Given the description of an element on the screen output the (x, y) to click on. 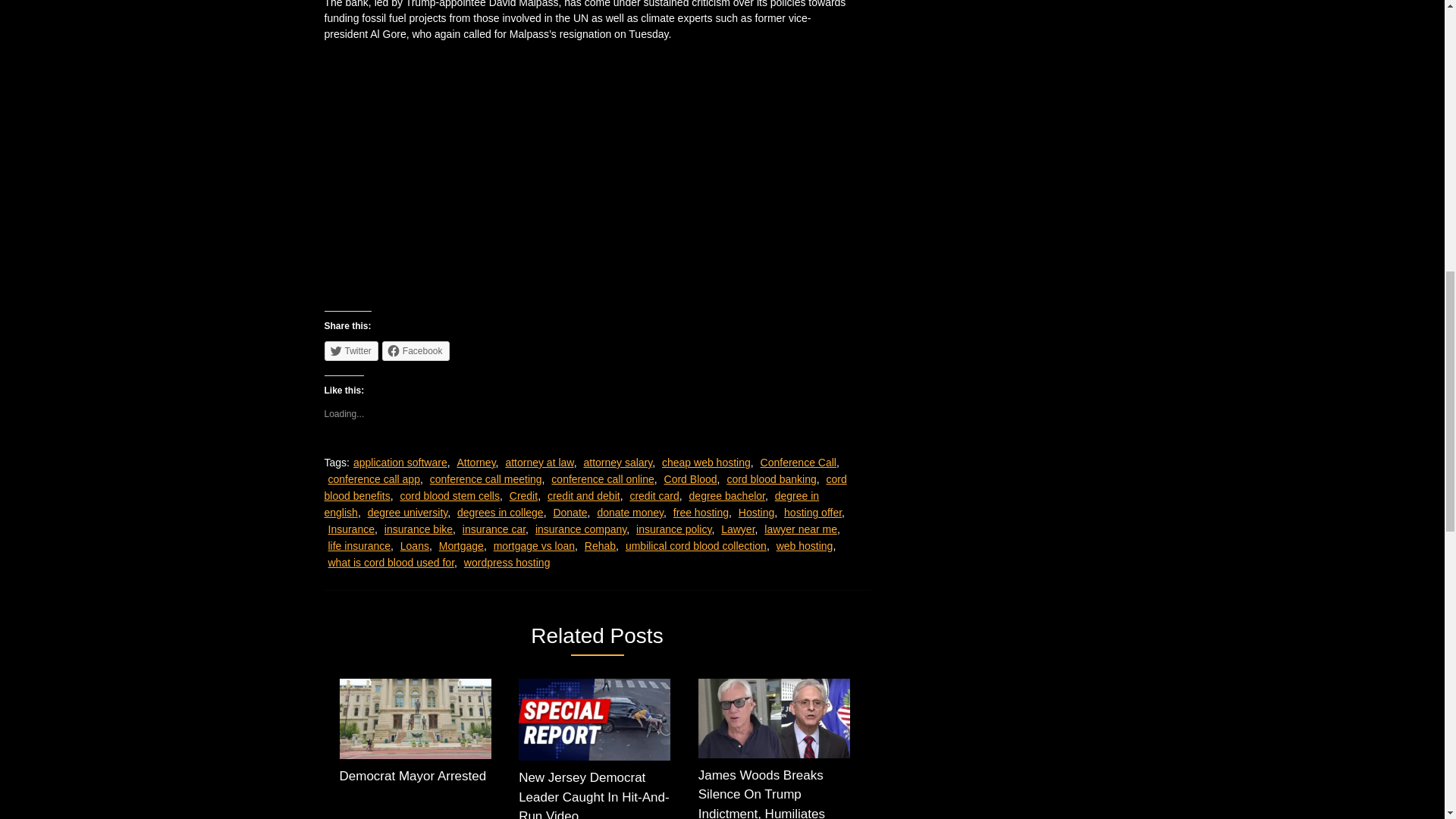
attorney salary (617, 462)
Click to share on Facebook (415, 351)
cheap web hosting (706, 462)
Twitter (351, 351)
Donate (569, 512)
Click to share on Twitter (351, 351)
credit and debit (583, 495)
donate money (629, 512)
degrees in college (500, 512)
degree university (408, 512)
